Given the description of an element on the screen output the (x, y) to click on. 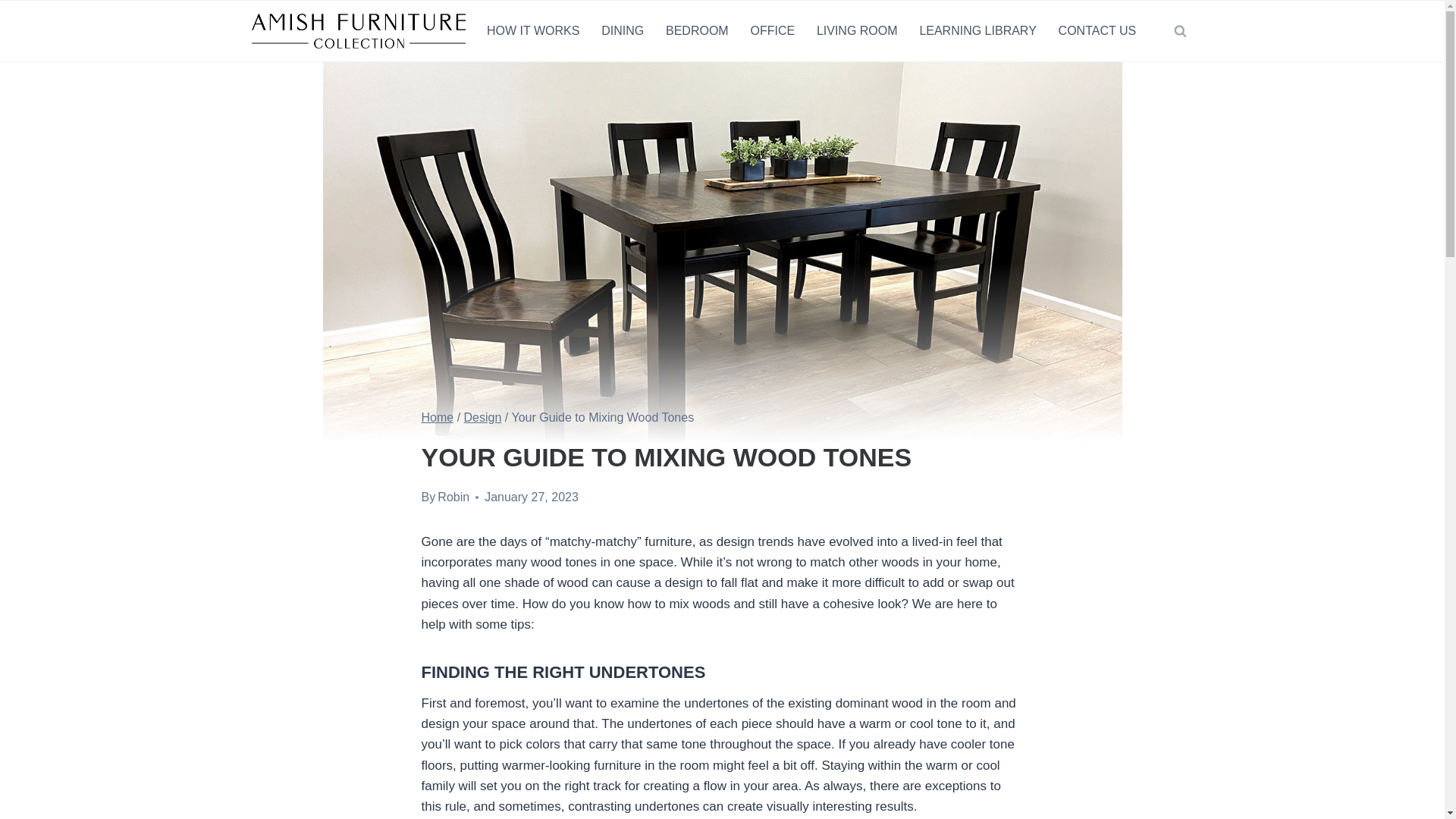
Home (438, 417)
CONTACT US (1096, 31)
LEARNING LIBRARY (977, 31)
BEDROOM (697, 31)
HOW IT WORKS (533, 31)
OFFICE (772, 31)
Design (483, 417)
DINING (623, 31)
Robin (453, 496)
LIVING ROOM (857, 31)
